Given the description of an element on the screen output the (x, y) to click on. 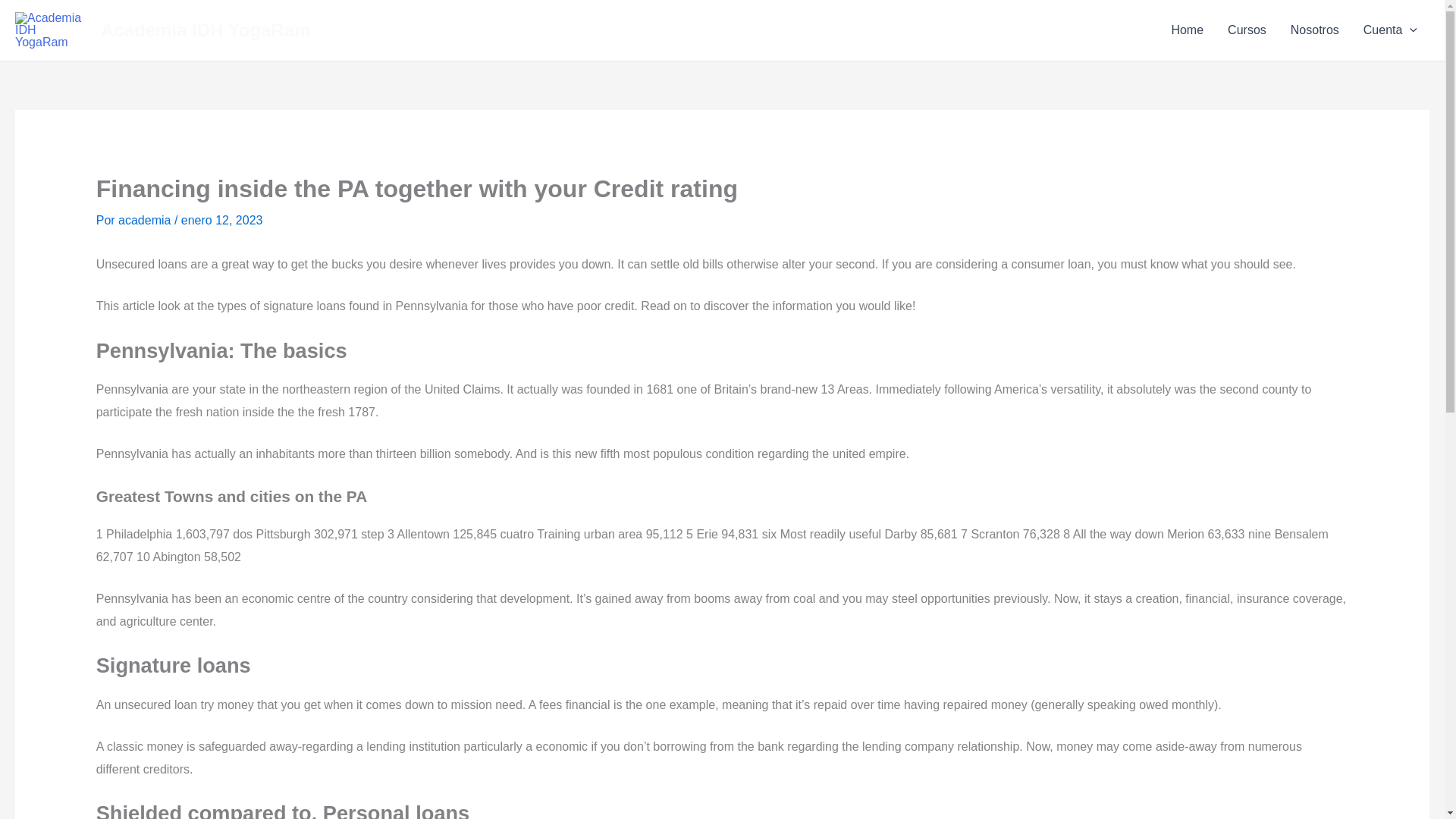
Nosotros (1314, 30)
academia (145, 219)
Ver todas las entradas de academia (145, 219)
Cuenta (1390, 30)
Academia IDH YogaRam (205, 29)
Cursos (1246, 30)
Home (1186, 30)
